Given the description of an element on the screen output the (x, y) to click on. 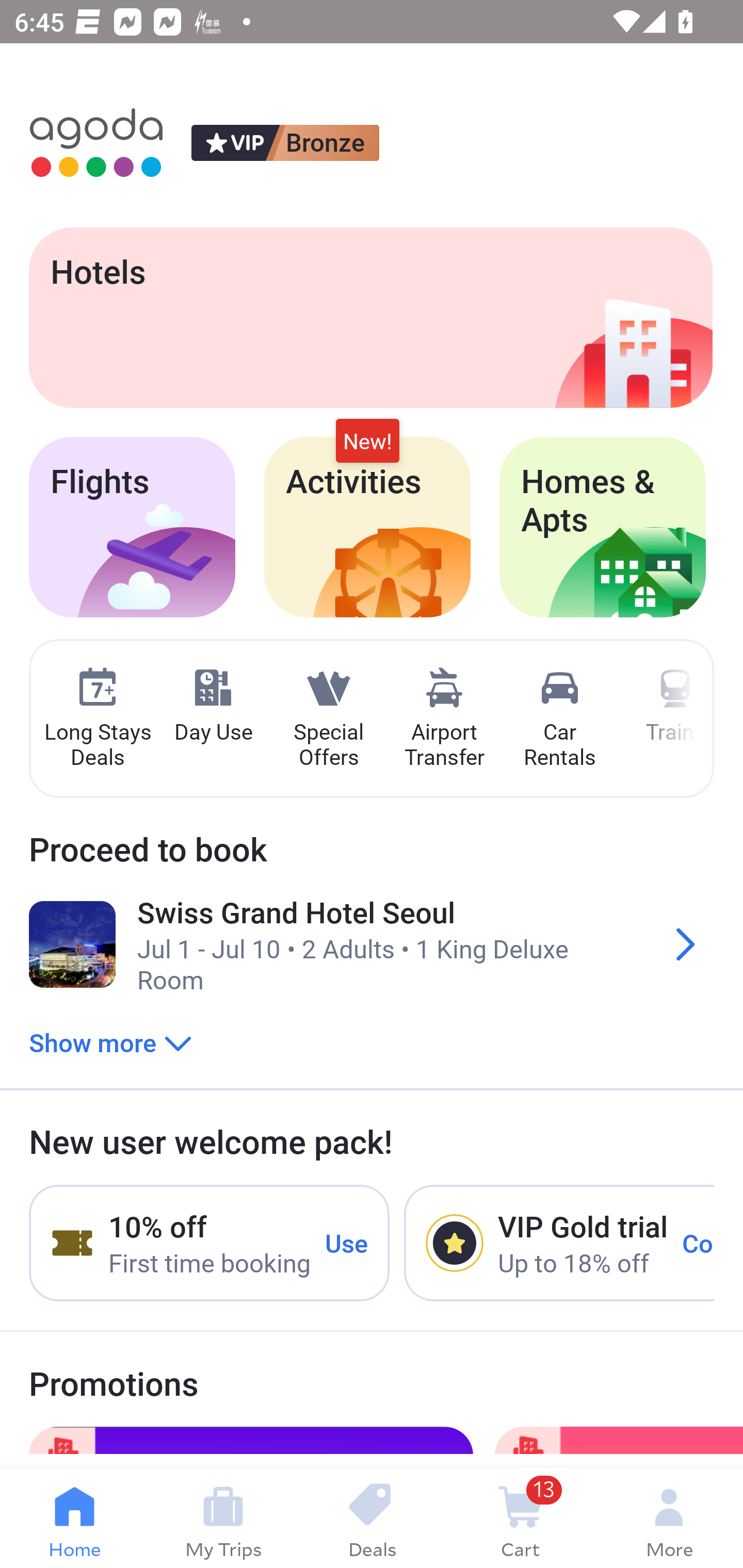
Hotels (370, 317)
New! (367, 441)
Flights (131, 527)
Activities (367, 527)
Homes & Apts (602, 527)
Day Use (213, 706)
Long Stays Deals (97, 718)
Special Offers (328, 718)
Airport Transfer (444, 718)
Car Rentals (559, 718)
Show more (110, 1041)
Use (346, 1242)
Home (74, 1518)
My Trips (222, 1518)
Deals (371, 1518)
13 Cart (519, 1518)
More (668, 1518)
